Given the description of an element on the screen output the (x, y) to click on. 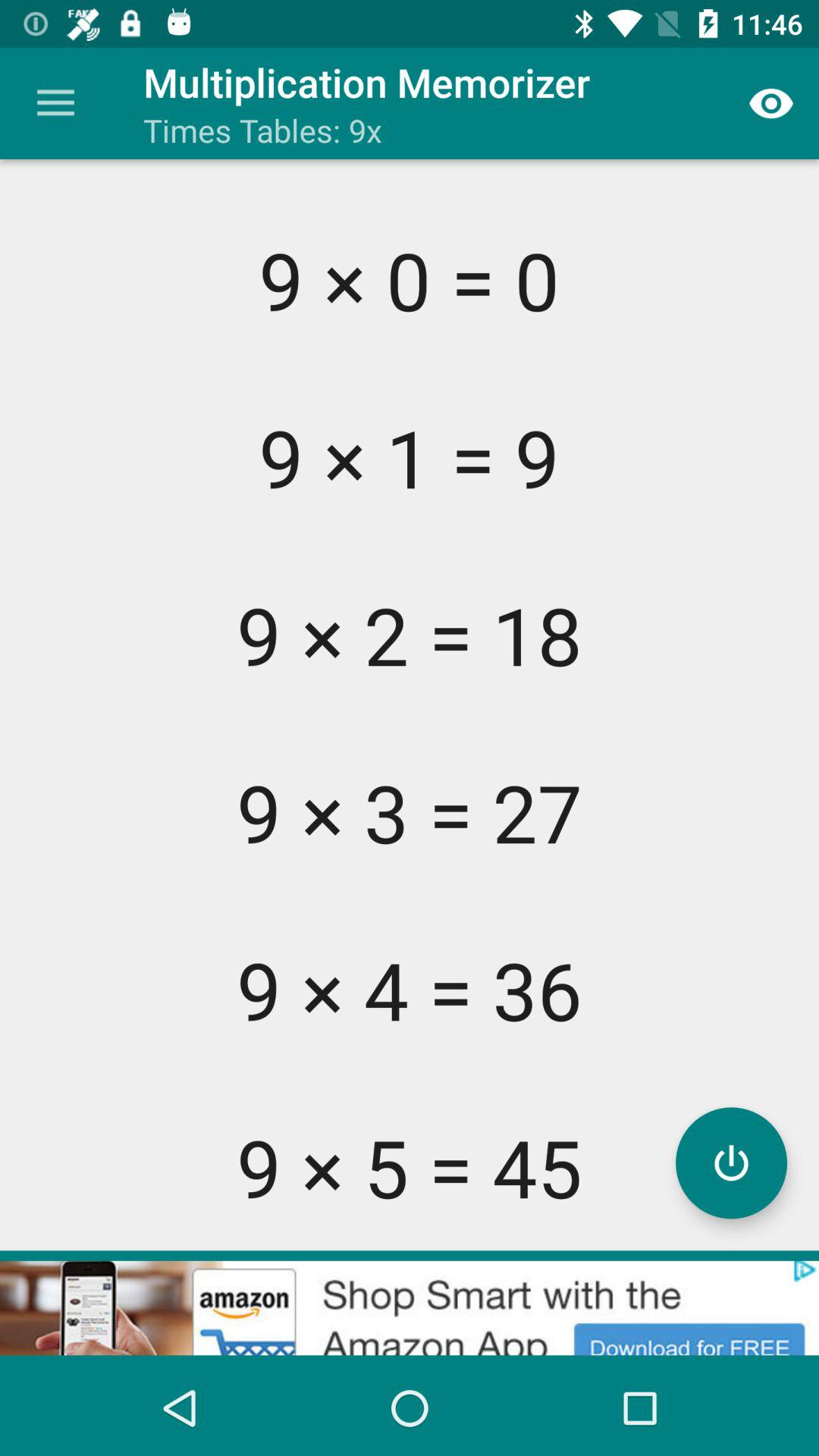
shut down option (731, 1162)
